Given the description of an element on the screen output the (x, y) to click on. 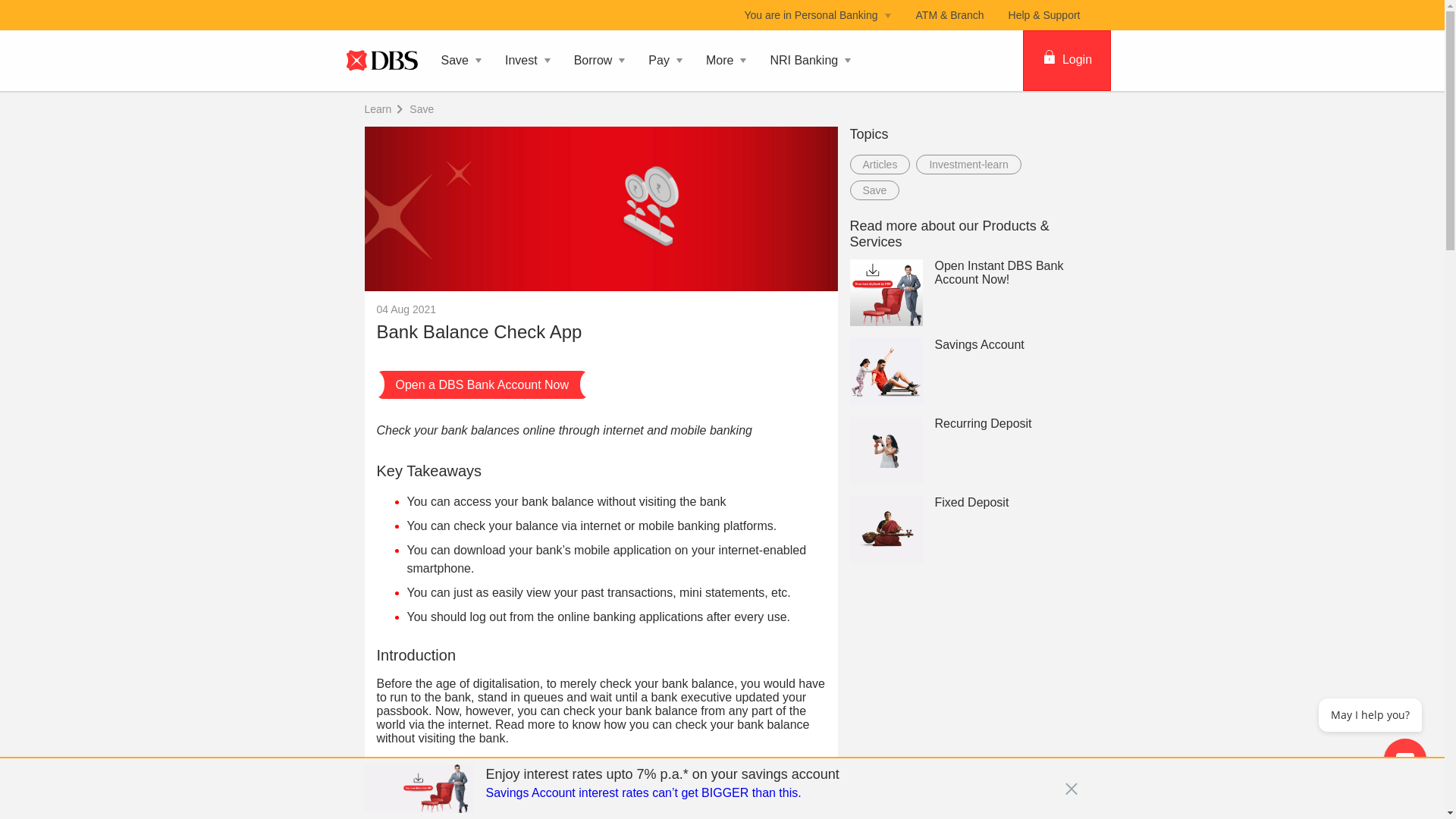
You are in Personal Banking (817, 15)
Open a DBS Bank Account Now (481, 384)
